Given the description of an element on the screen output the (x, y) to click on. 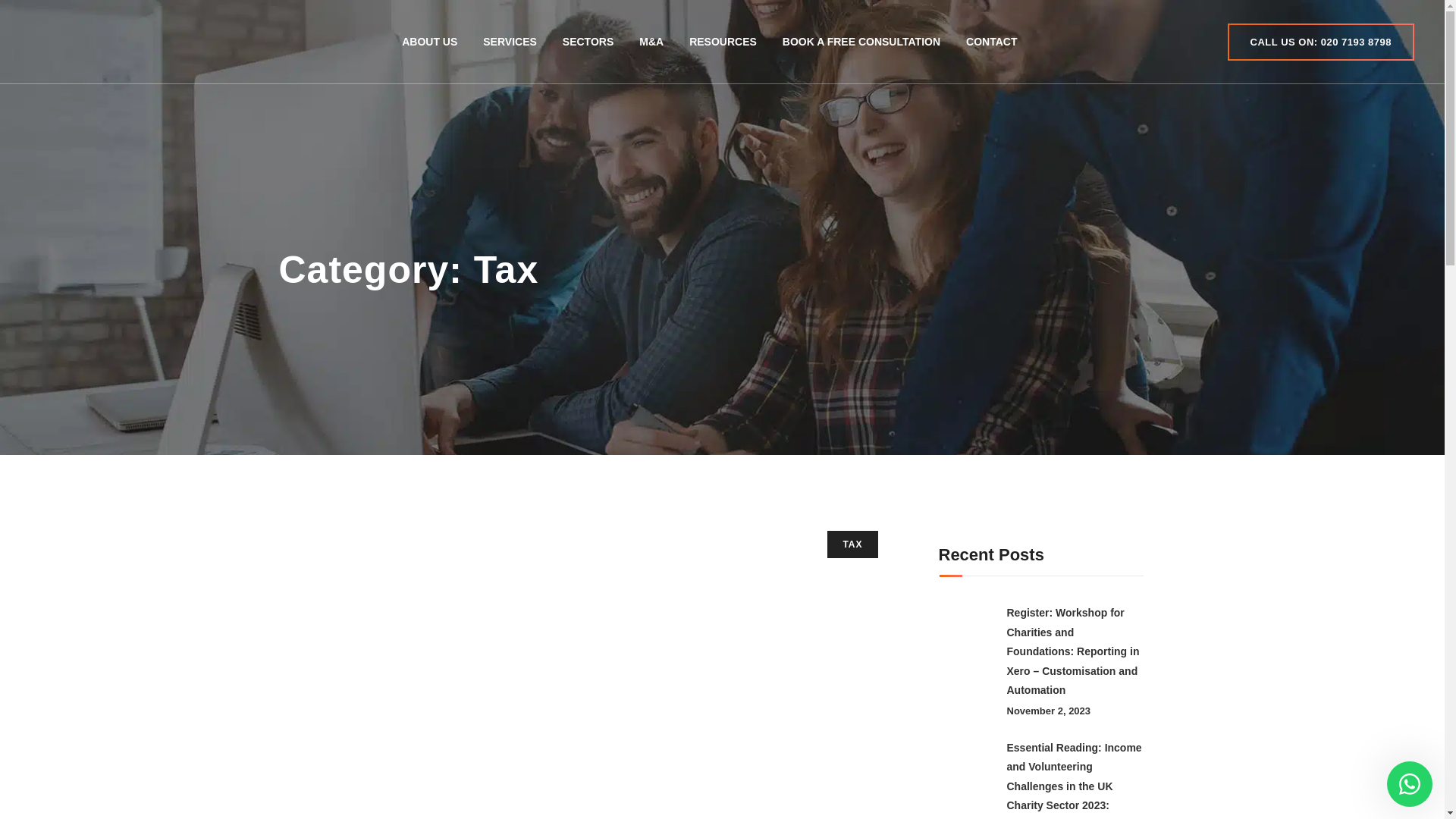
BOOK A FREE CONSULTATION (861, 41)
November 2, 2023 (1048, 710)
AccountsPro (111, 41)
CALL US ON: 020 7193 8798 (1320, 41)
TAX (852, 543)
